Given the description of an element on the screen output the (x, y) to click on. 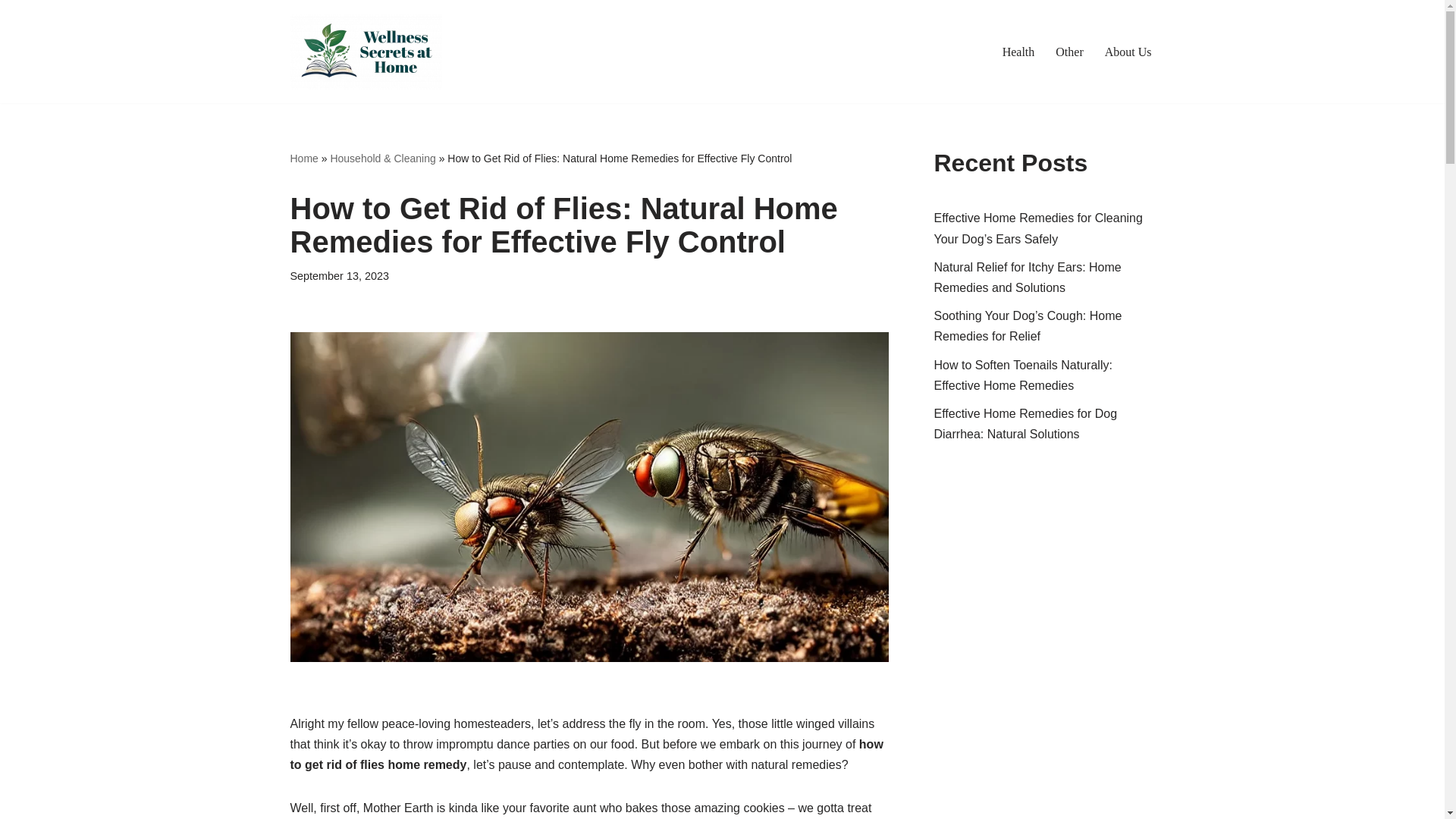
Health (1019, 51)
About Us (1128, 51)
How to Soften Toenails Naturally: Effective Home Remedies (1023, 375)
Skip to content (11, 31)
Other (1069, 51)
Home (303, 158)
Natural Relief for Itchy Ears: Home Remedies and Solutions (1027, 277)
Effective Home Remedies for Dog Diarrhea: Natural Solutions (1026, 423)
